Given the description of an element on the screen output the (x, y) to click on. 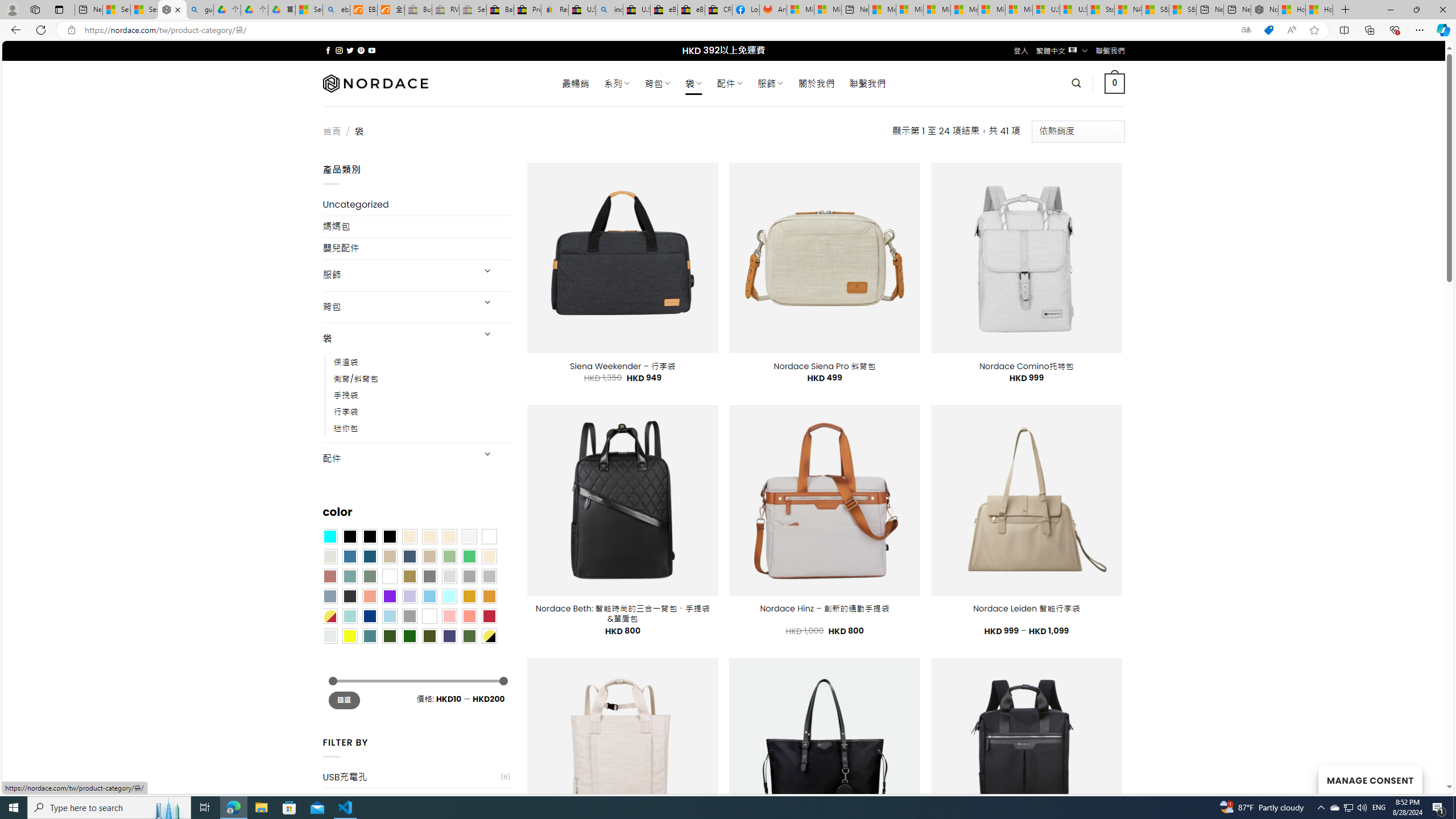
including - Search (609, 9)
